Given the description of an element on the screen output the (x, y) to click on. 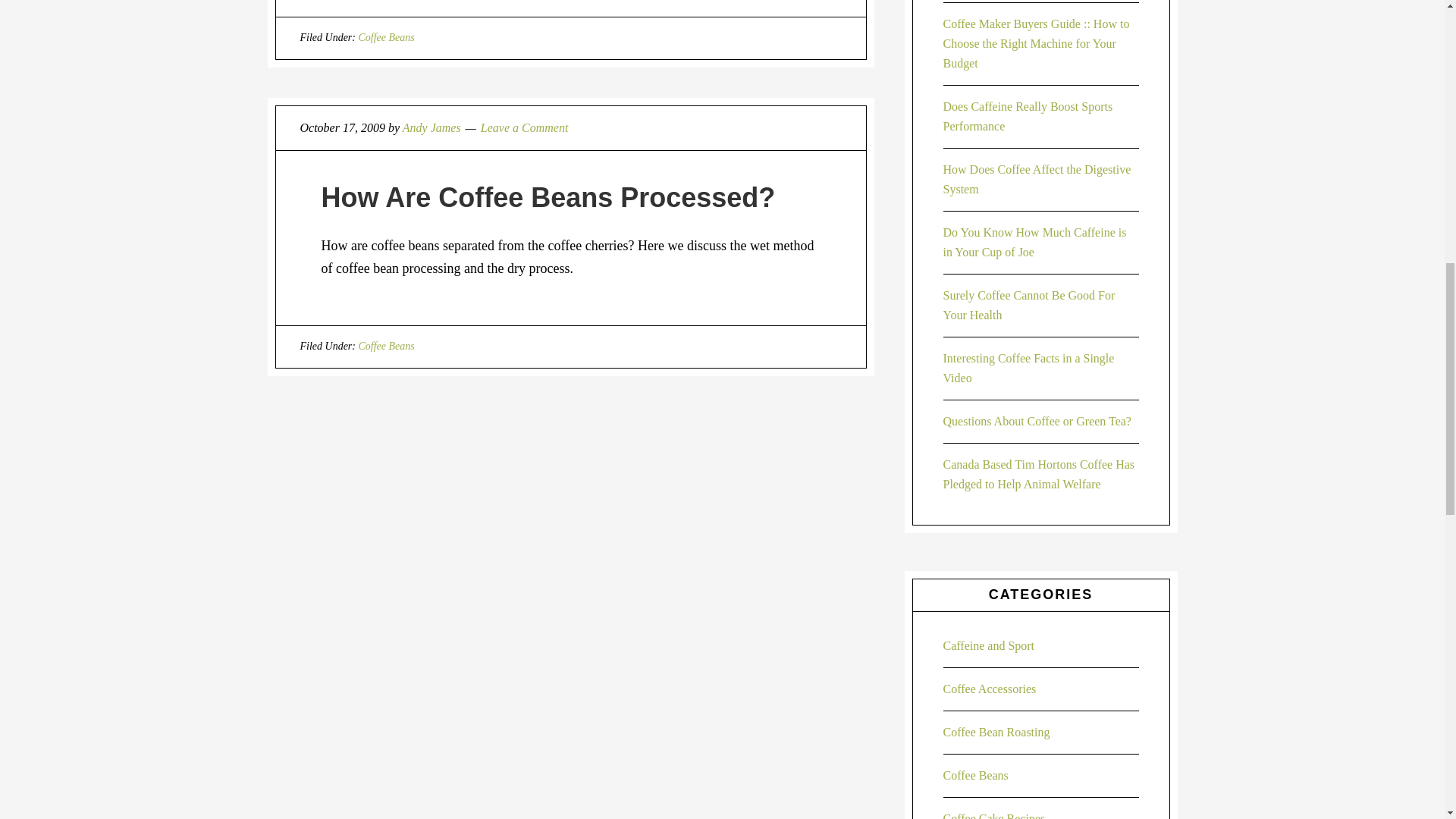
Surely Coffee Cannot Be Good For Your Health (1029, 305)
How Does Coffee Affect the Digestive System (1037, 178)
Leave a Comment (524, 127)
Coffee Bean Roasting (996, 731)
Coffee Beans (976, 775)
Caffeine and Sport (989, 645)
Questions About Coffee or Green Tea? (1037, 420)
Coffee Cake Recipes (994, 815)
Does Caffeine Really Boost Sports Performance (1028, 115)
Interesting Coffee Facts in a Single Video (1029, 368)
Do You Know How Much Caffeine is in Your Cup of Joe (1034, 242)
Coffee Beans (385, 346)
Andy James (432, 127)
